Given the description of an element on the screen output the (x, y) to click on. 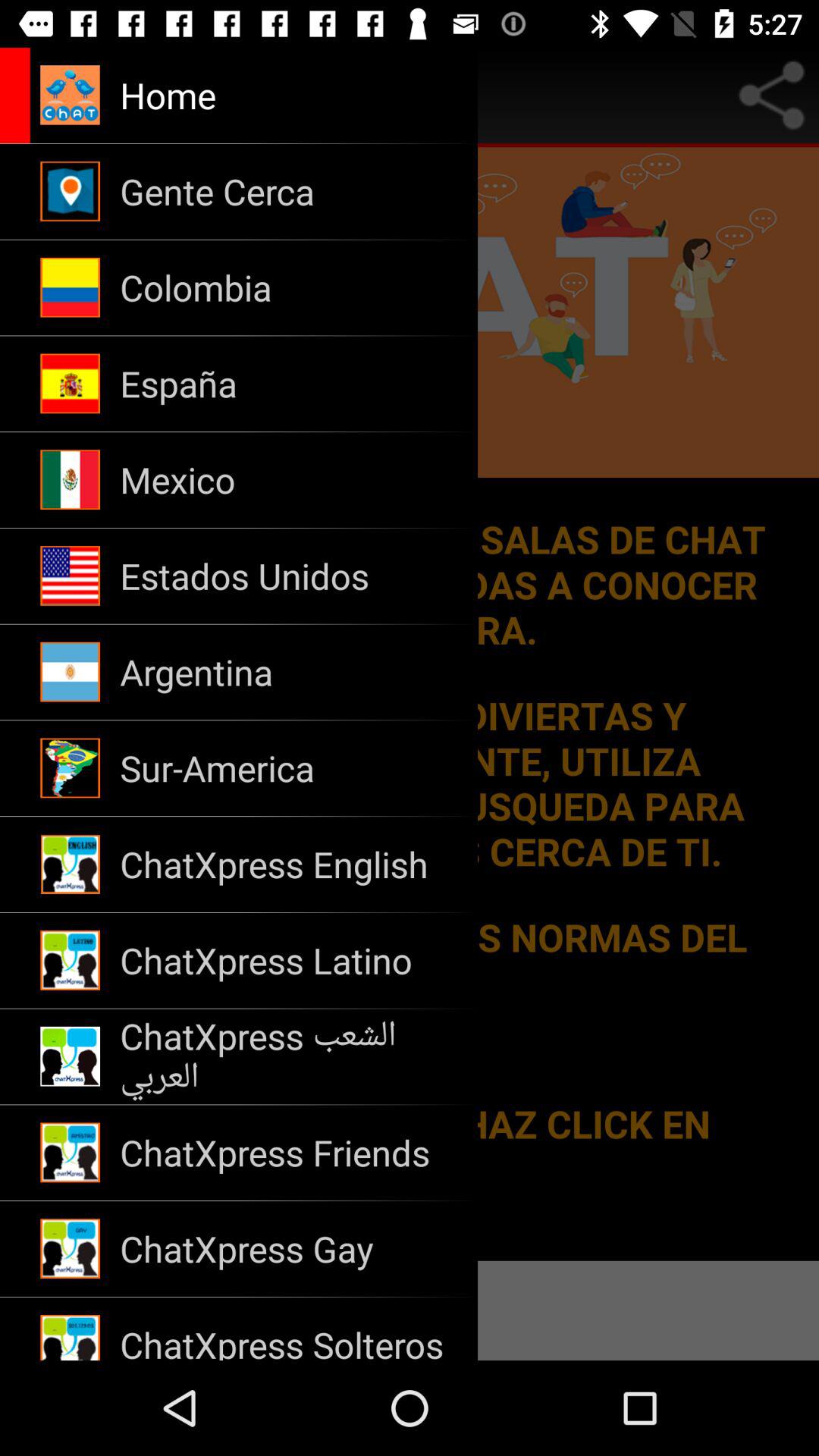
turn on app above the chatxpress latino app (288, 864)
